Given the description of an element on the screen output the (x, y) to click on. 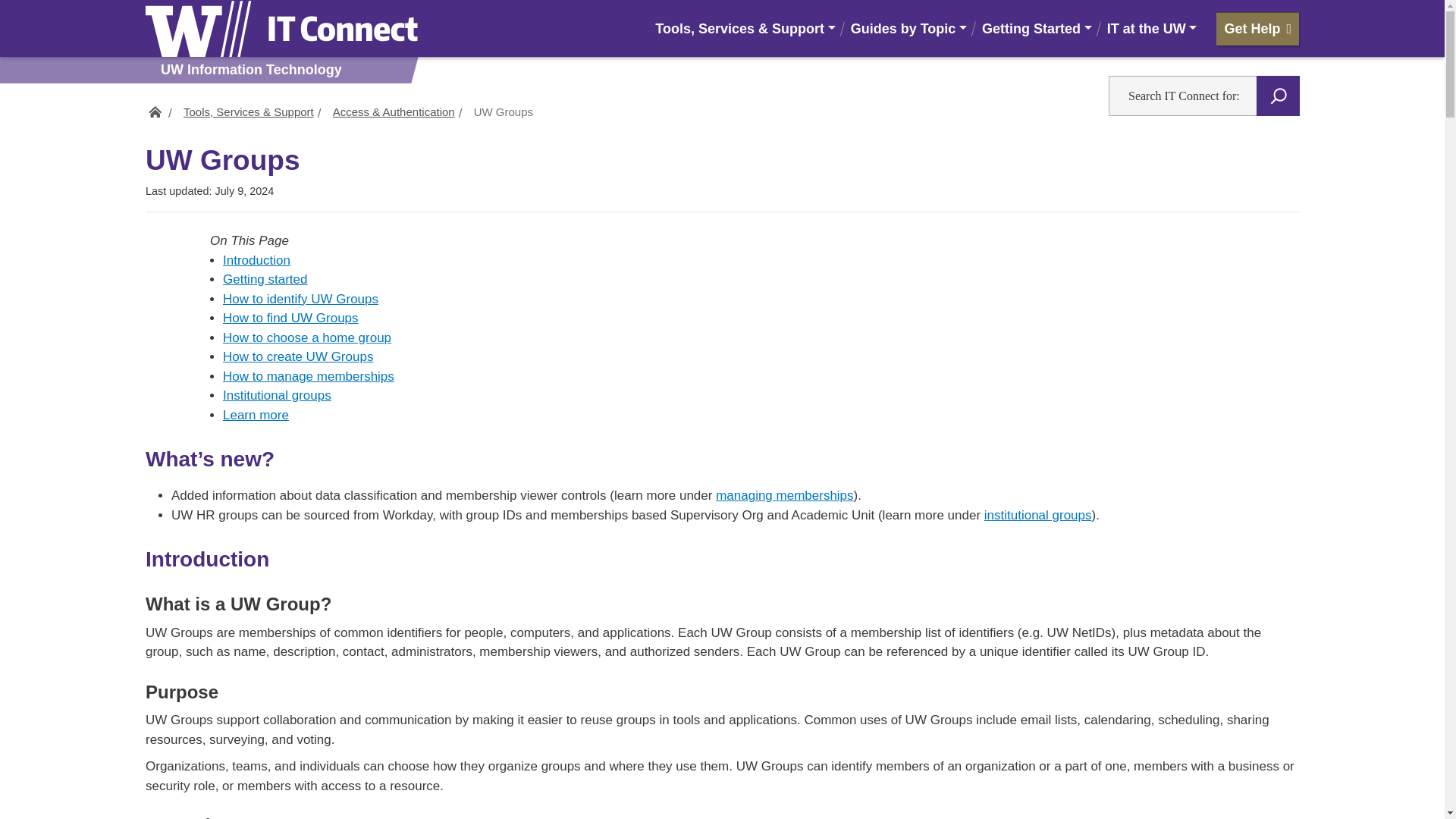
IT at the UW (1152, 27)
Guides by Topic (908, 27)
search (629, 1)
Search (1277, 95)
IT Connect (154, 106)
Getting Started (1036, 27)
search (629, 1)
search (629, 1)
